Given the description of an element on the screen output the (x, y) to click on. 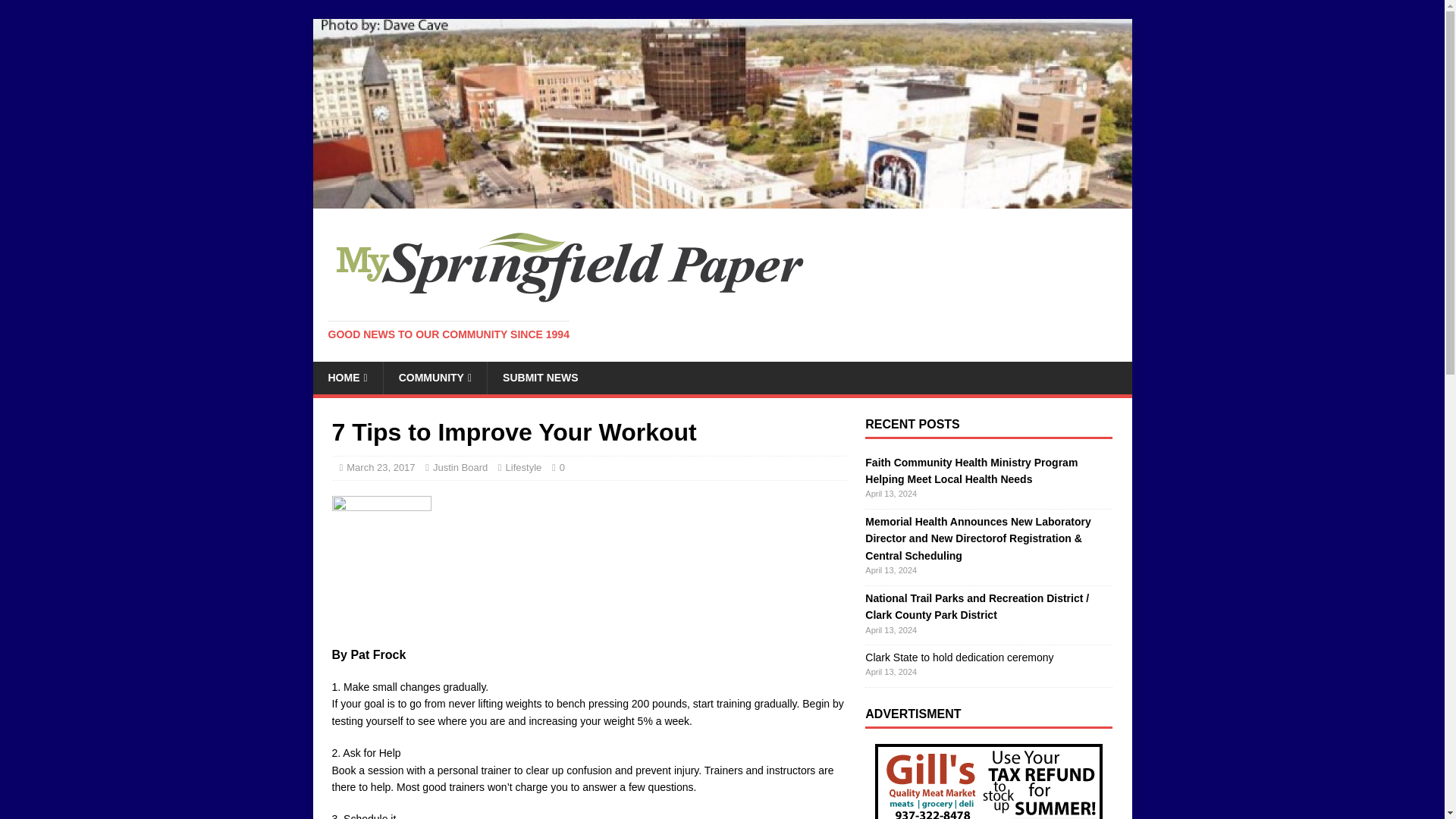
Lifestyle (523, 467)
GOOD NEWS TO OUR COMMUNITY SINCE 1994 (448, 334)
HOME (347, 377)
SUBMIT NEWS (540, 377)
Justin Board (459, 467)
March 23, 2017 (380, 467)
COMMUNITY (434, 377)
